Given the description of an element on the screen output the (x, y) to click on. 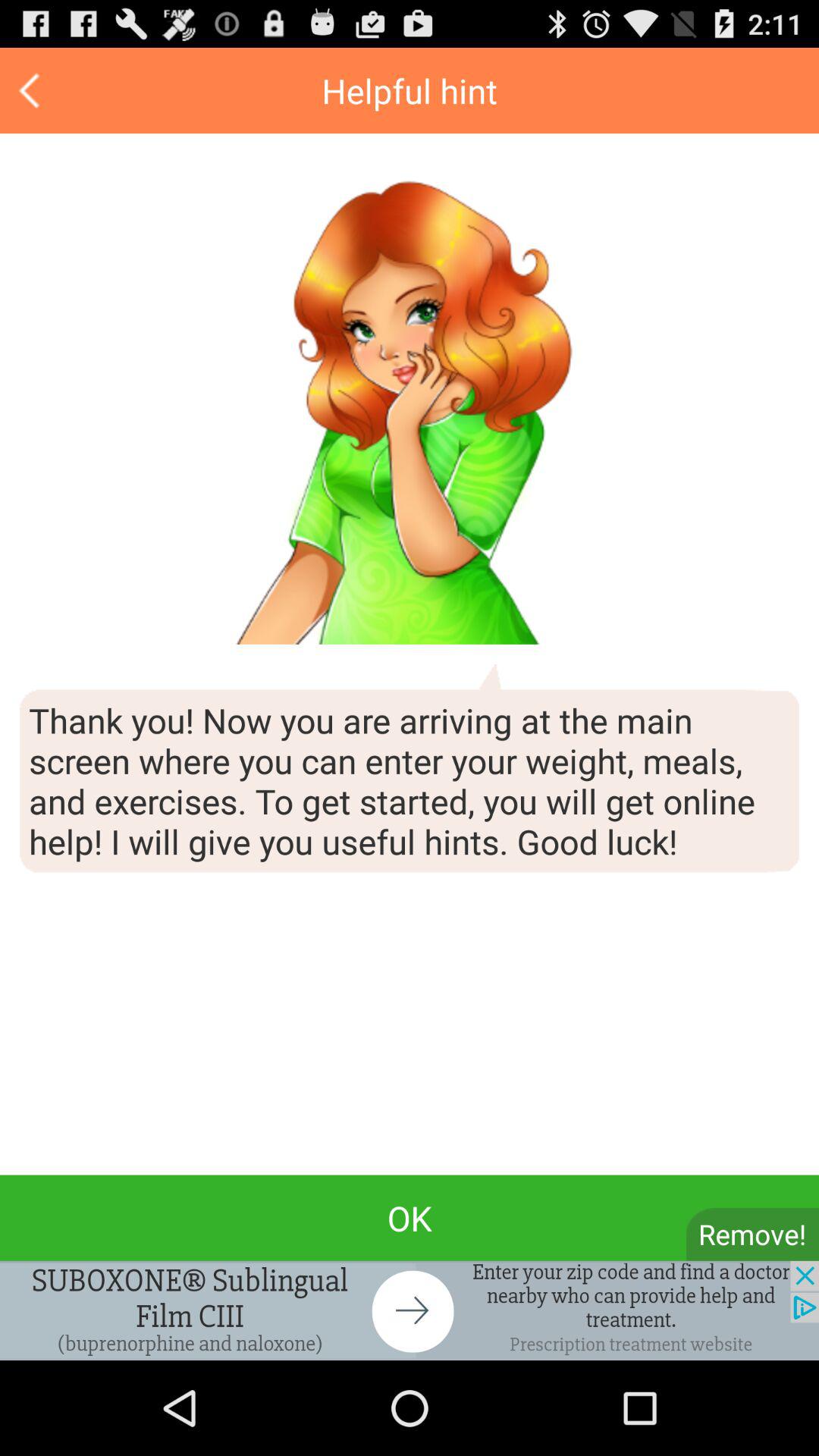
go to advertisement (409, 1310)
